Given the description of an element on the screen output the (x, y) to click on. 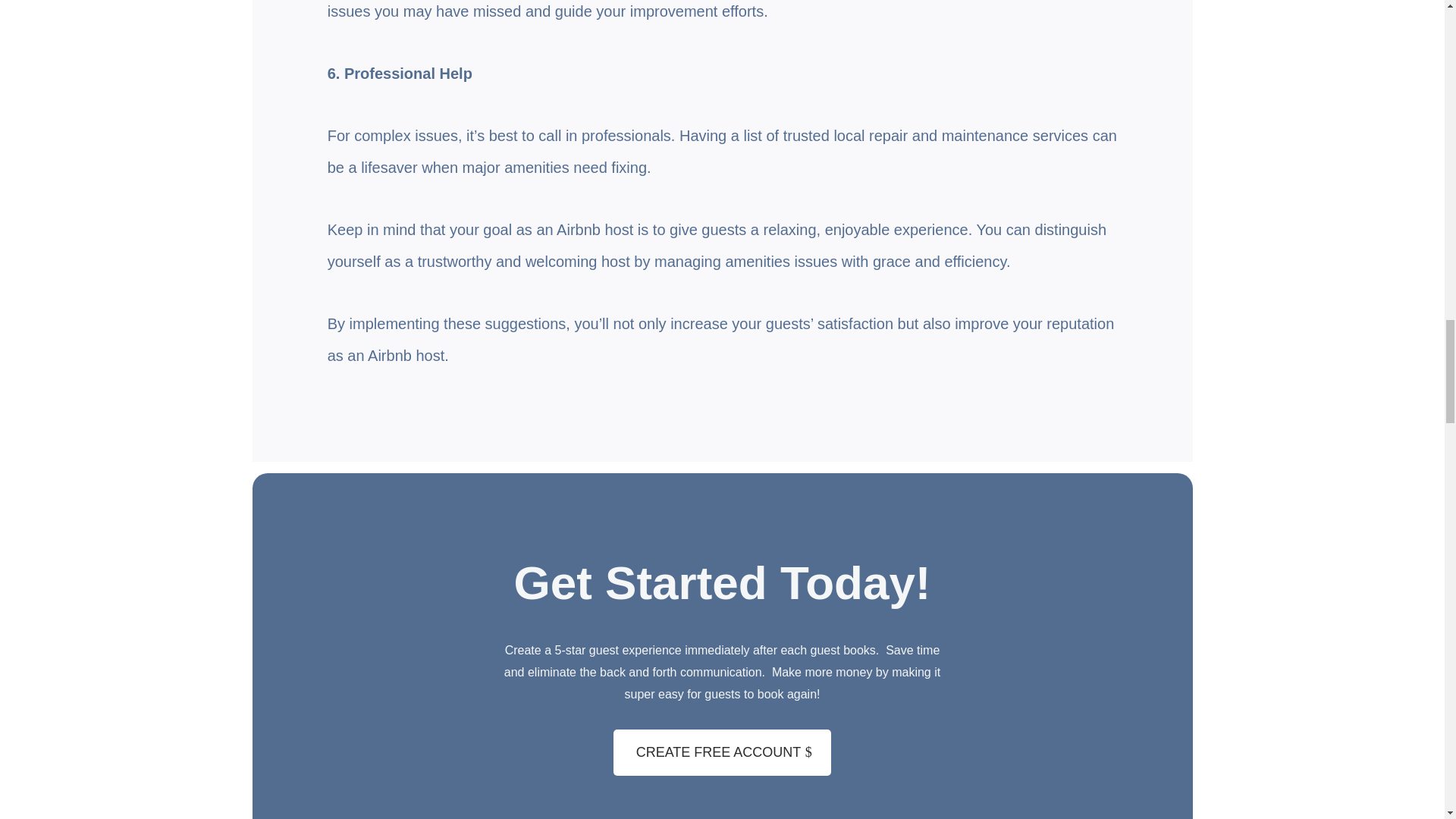
CREATE FREE ACCOUNT (721, 752)
